Given the description of an element on the screen output the (x, y) to click on. 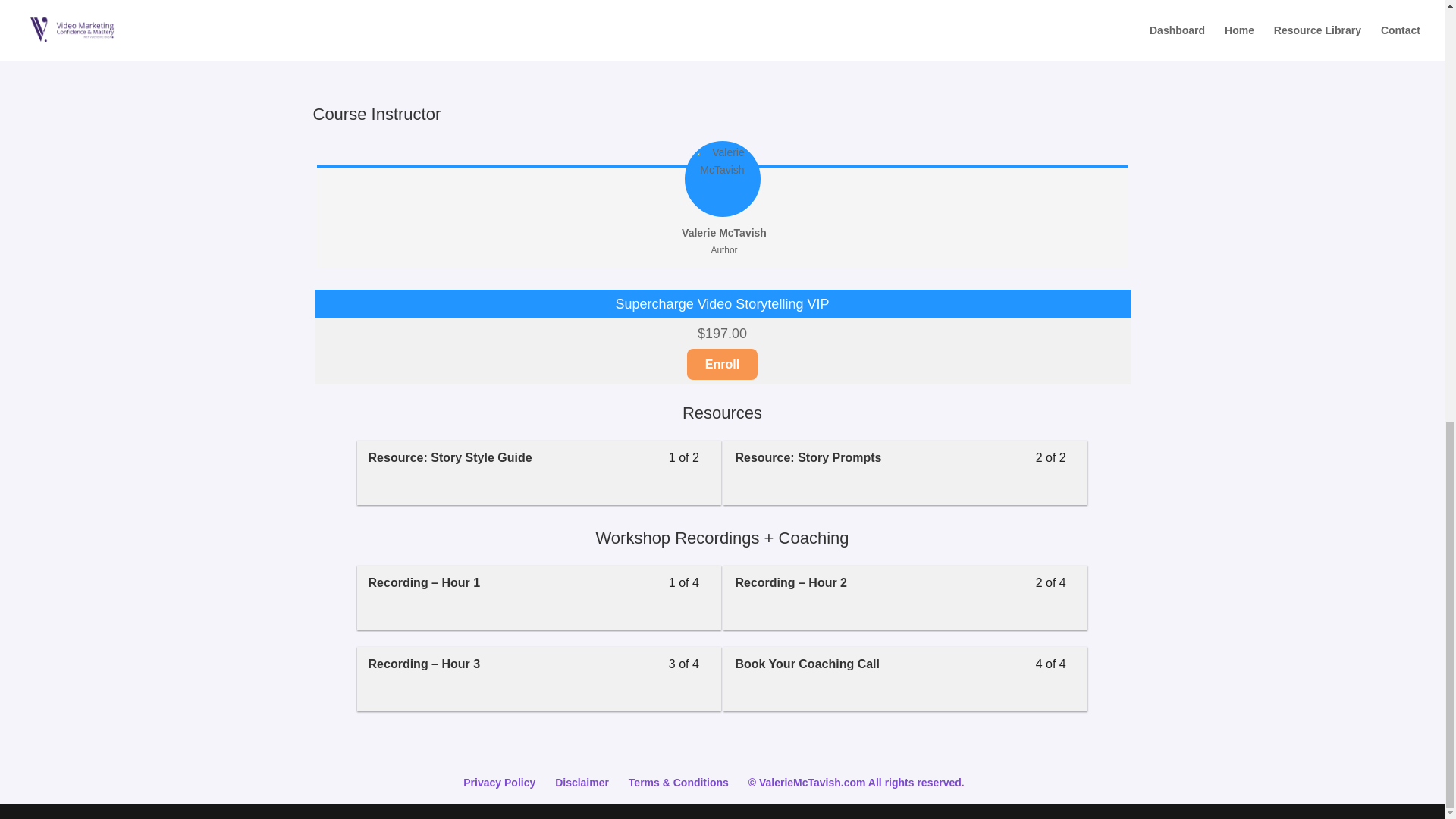
Front Page (905, 472)
Enroll (395, 5)
Disclaimer (722, 364)
Privacy Policy (905, 679)
